Given the description of an element on the screen output the (x, y) to click on. 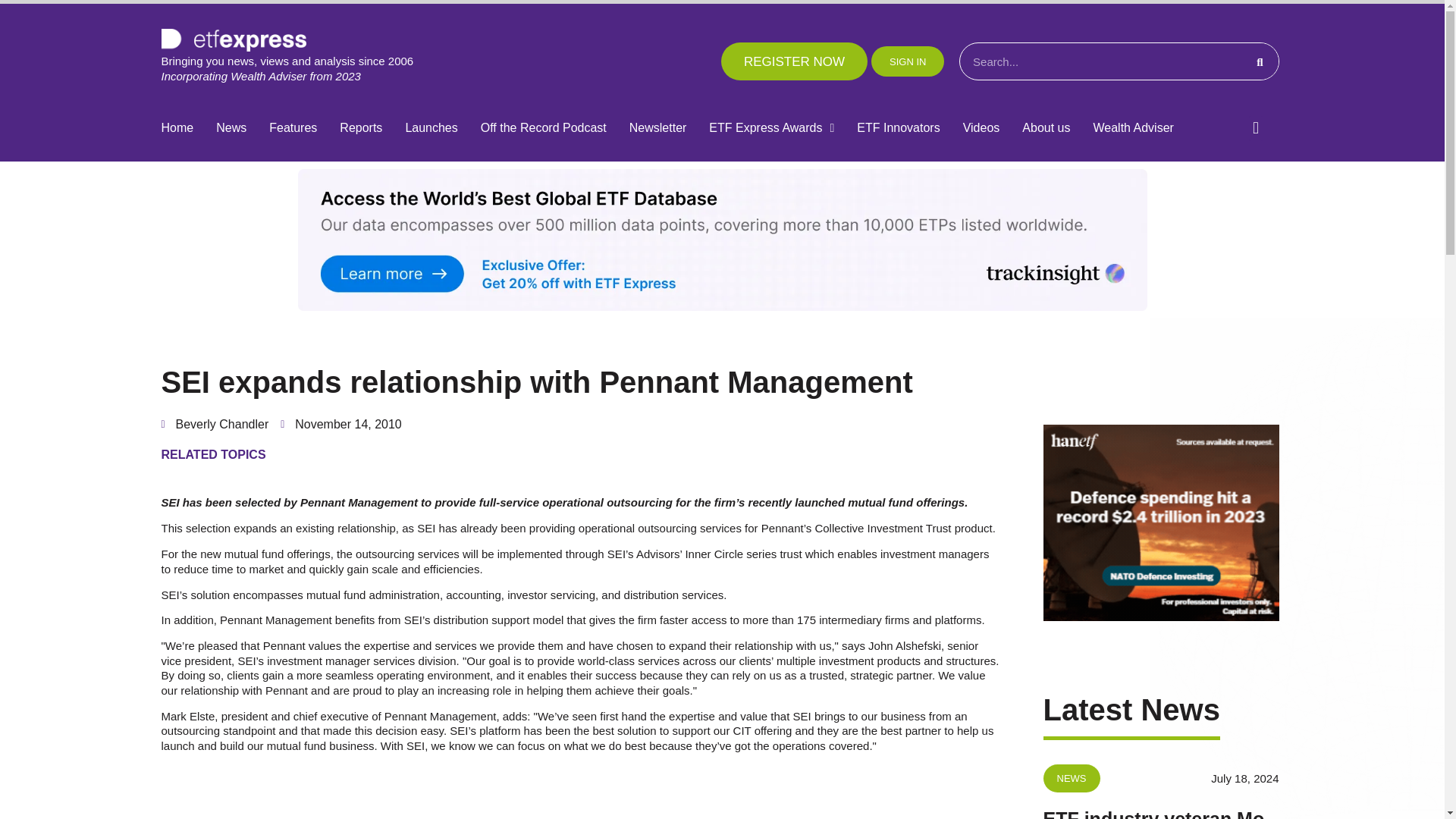
REGISTER NOW (793, 61)
SIGN IN (906, 60)
Features (293, 128)
